Given the description of an element on the screen output the (x, y) to click on. 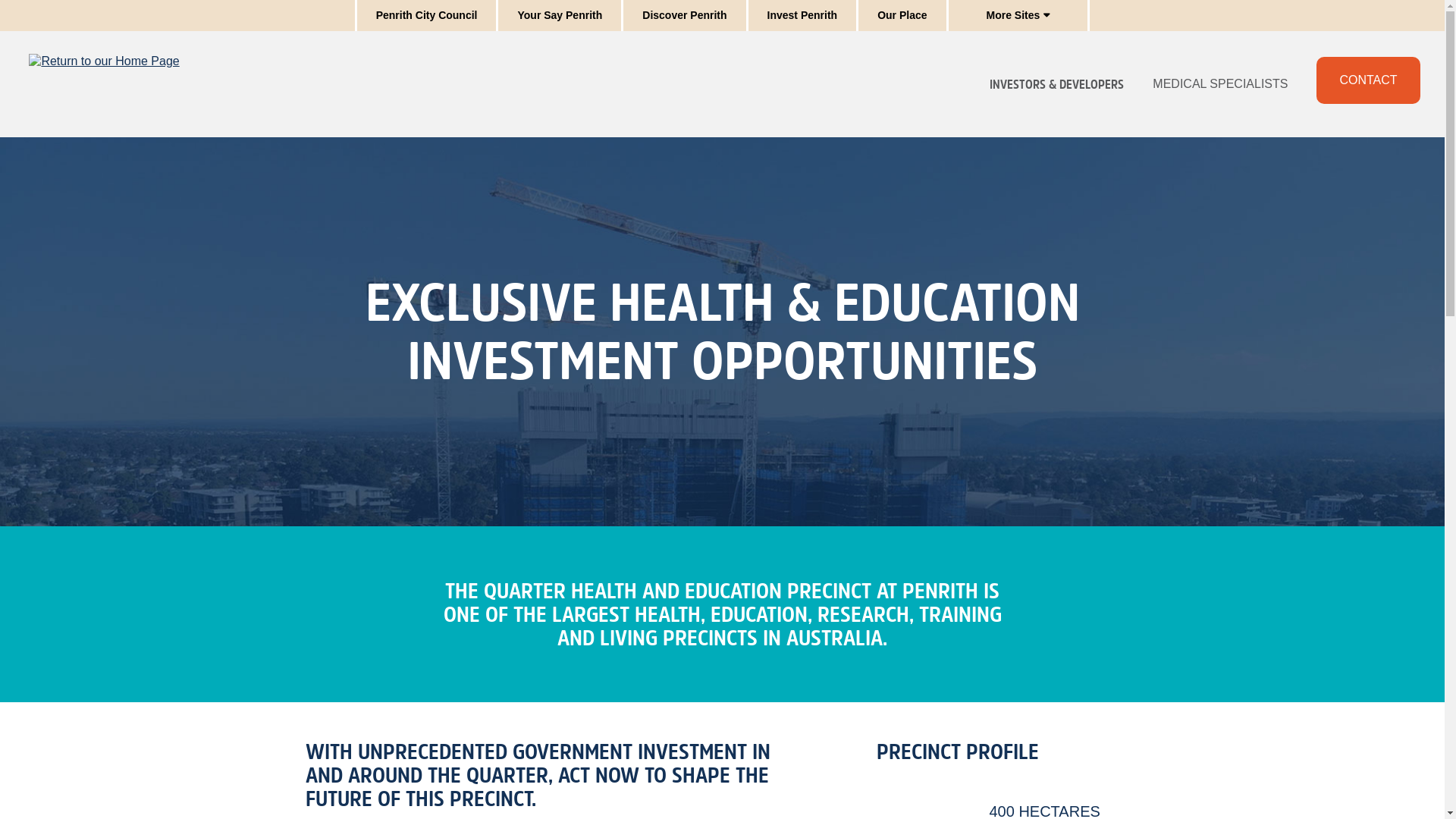
INVESTORS & DEVELOPERS Element type: text (1056, 84)
Discover Penrith Element type: text (684, 15)
Penrith City Council Element type: text (426, 15)
Home Element type: hover (103, 83)
Our Place Element type: text (901, 15)
Invest Penrith Element type: text (802, 15)
CONTACT Element type: text (1367, 79)
MEDICAL SPECIALISTS Element type: text (1219, 84)
Your Say Penrith Element type: text (559, 15)
